Given the description of an element on the screen output the (x, y) to click on. 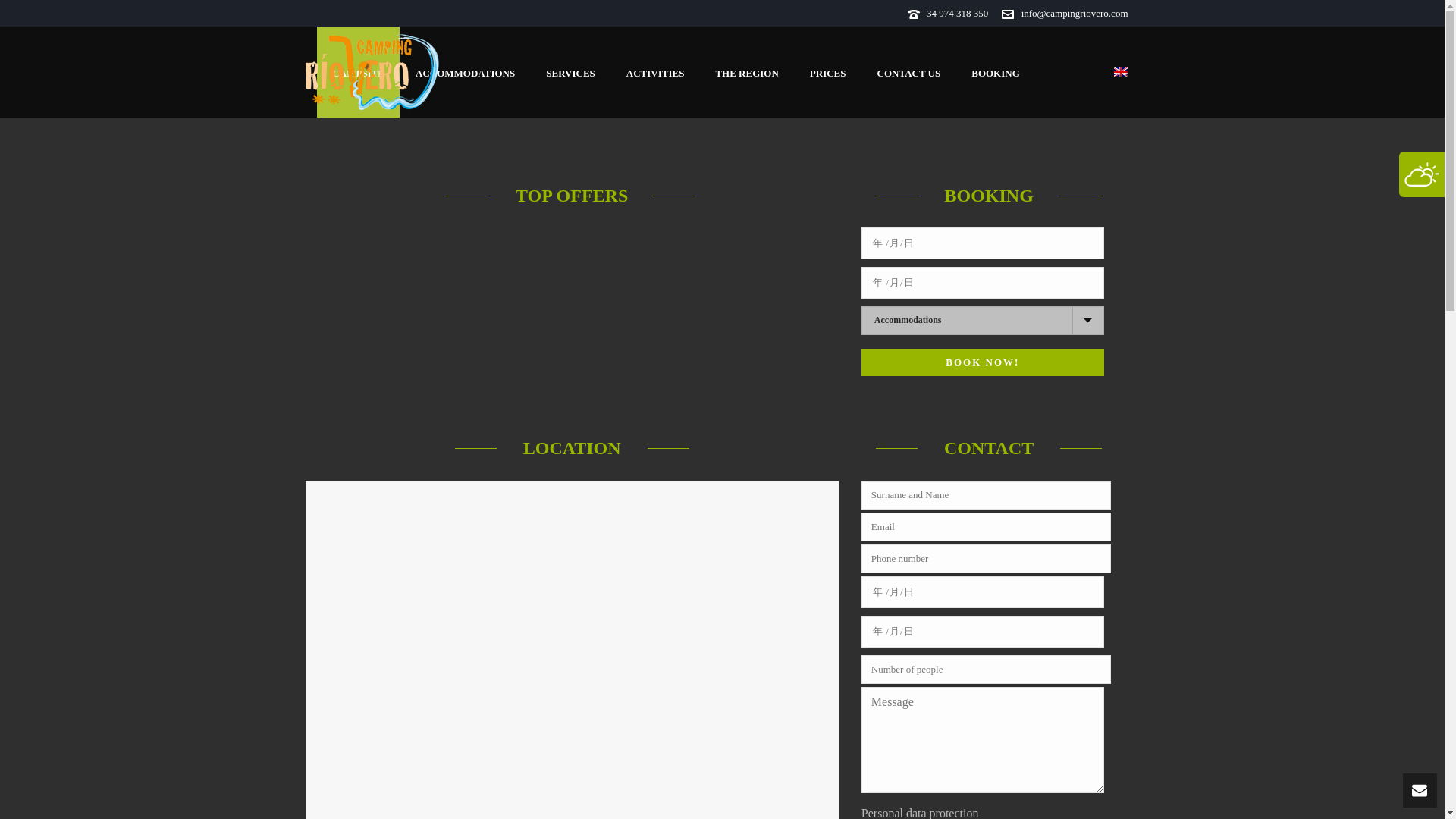
CAMPSITE (357, 71)
ACCOMMODATIONS (464, 71)
ACTIVITIES (655, 71)
THE REGION (746, 71)
LANGUAGE:  (1088, 71)
34 974 318 350 (957, 12)
ACTIVITIES (655, 71)
English (1088, 71)
ACCOMMODATIONS (464, 71)
CONTACT US (908, 71)
